Given the description of an element on the screen output the (x, y) to click on. 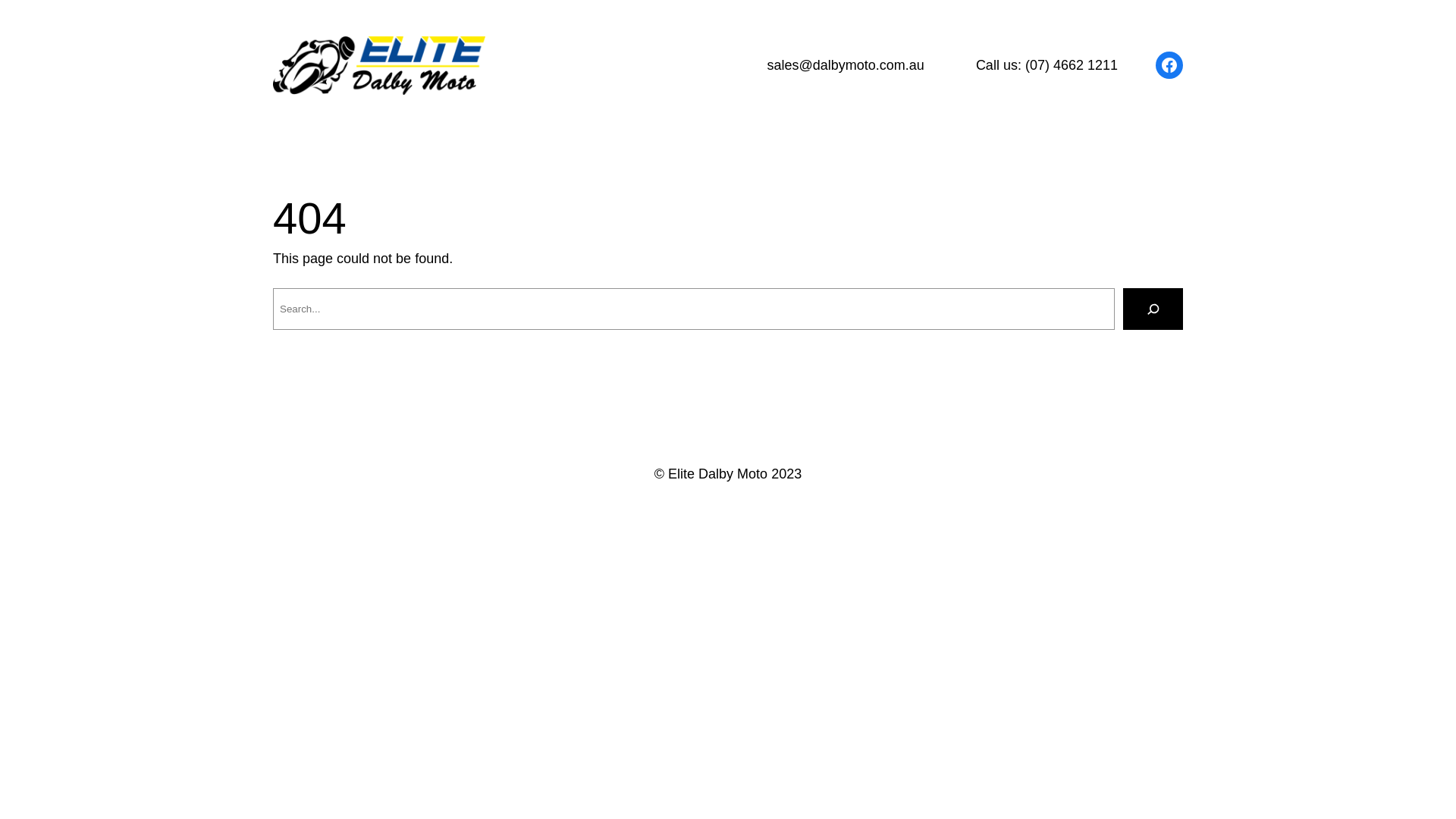
Call us: (07) 4662 1211 Element type: text (1046, 65)
Facebook Element type: text (1169, 64)
sales@dalbymoto.com.au Element type: text (845, 65)
